Given the description of an element on the screen output the (x, y) to click on. 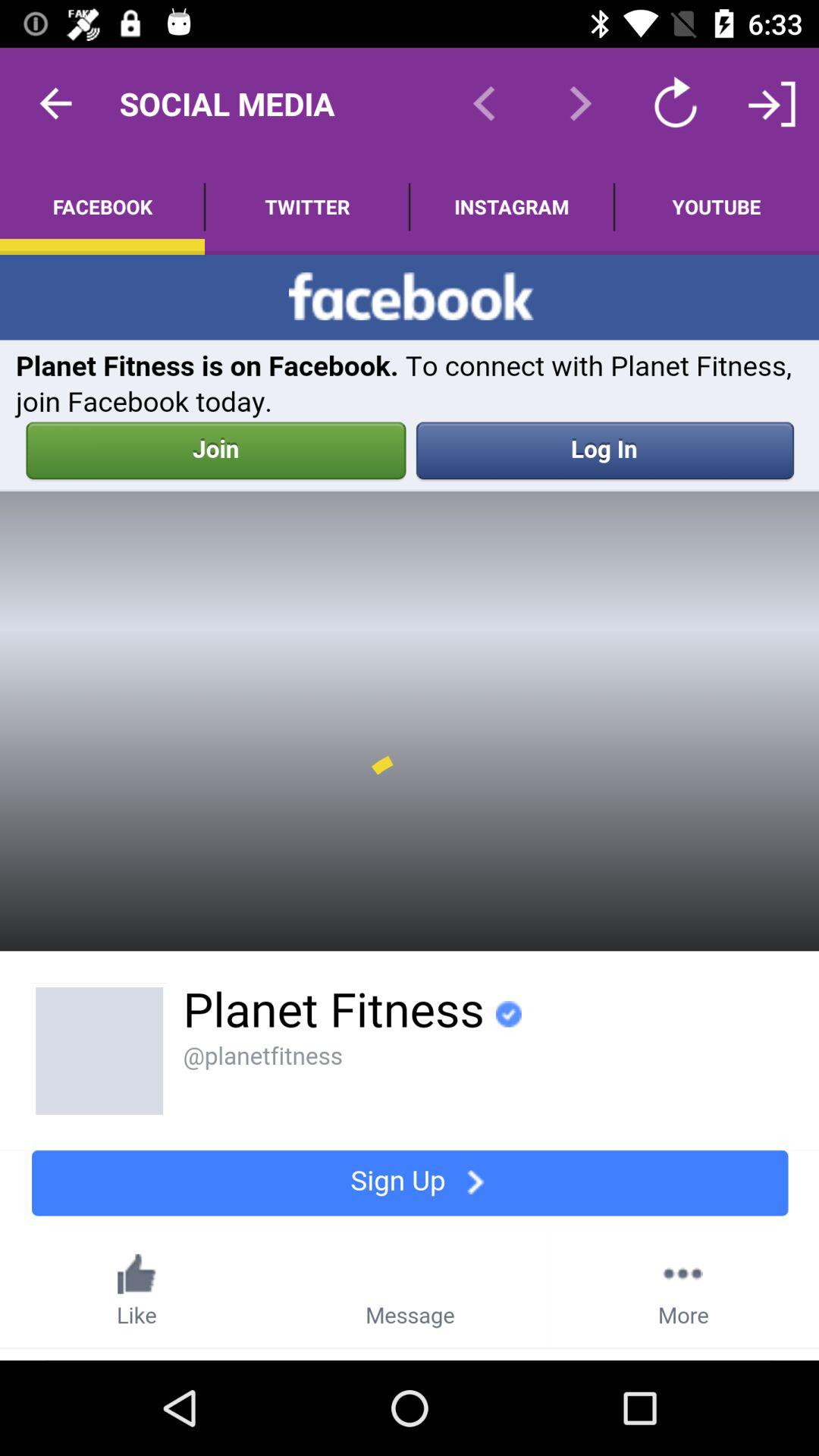
select the icon right to social media (484, 103)
select refresh icon which is at the top of the page (675, 103)
select the text which is right to the text instagram (716, 206)
select twitter (306, 206)
go to top right corner (771, 103)
